Given the description of an element on the screen output the (x, y) to click on. 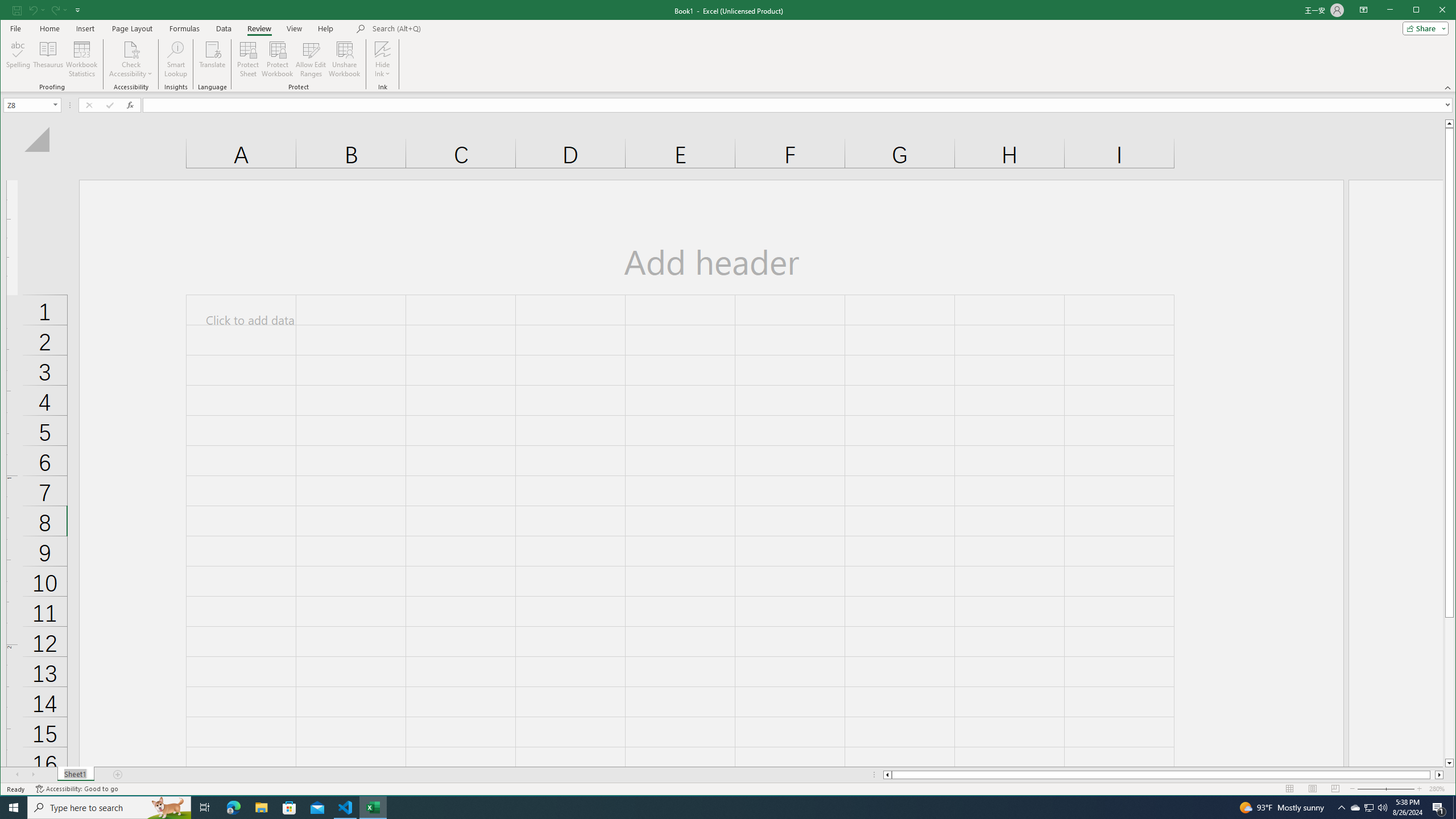
Action Center, 1 new notification (1439, 807)
Protect Workbook... (277, 59)
Running applications (717, 807)
Smart Lookup (176, 59)
Excel - 1 running window (373, 807)
